Given the description of an element on the screen output the (x, y) to click on. 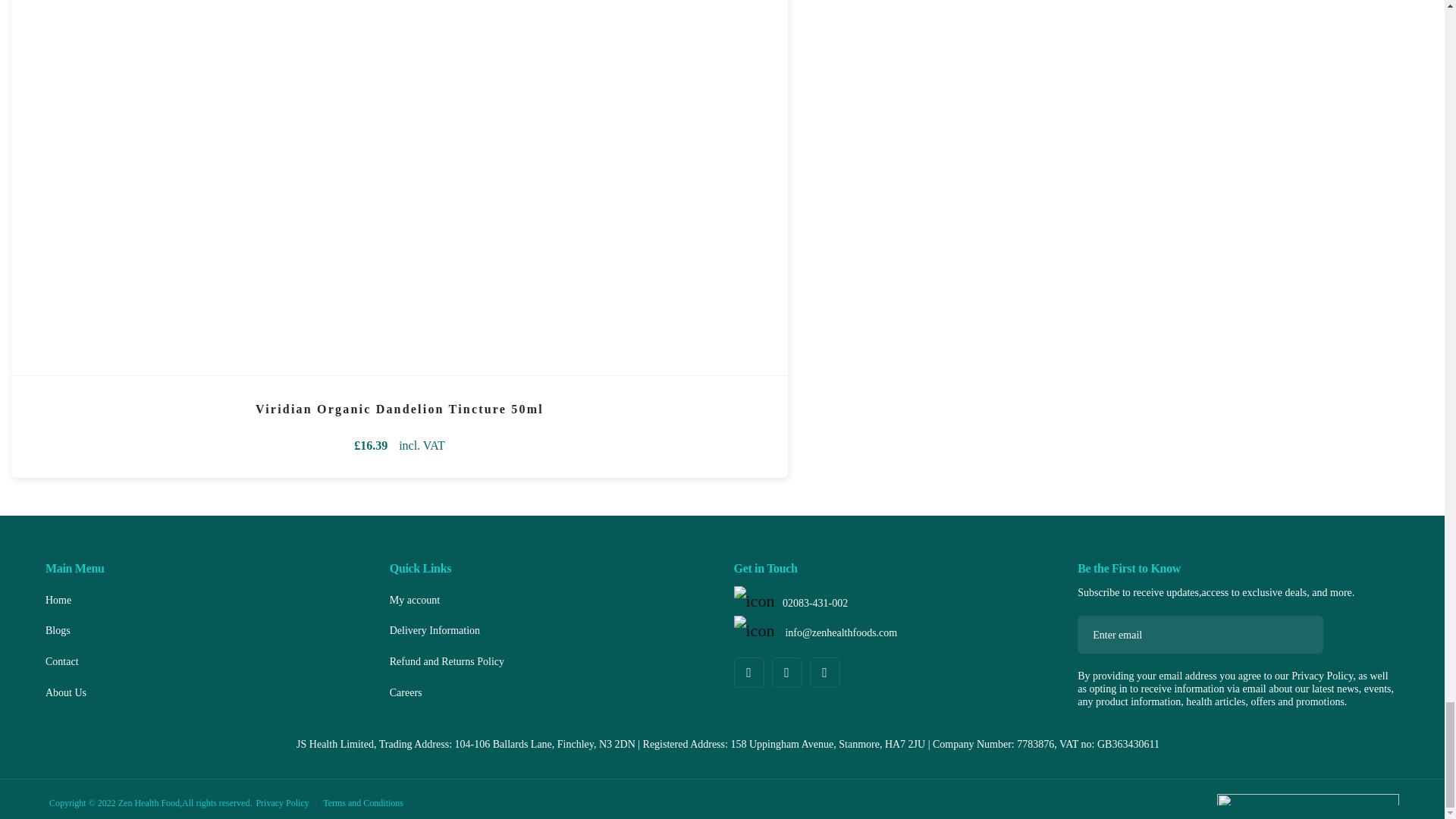
Subscribe (1297, 634)
